Given the description of an element on the screen output the (x, y) to click on. 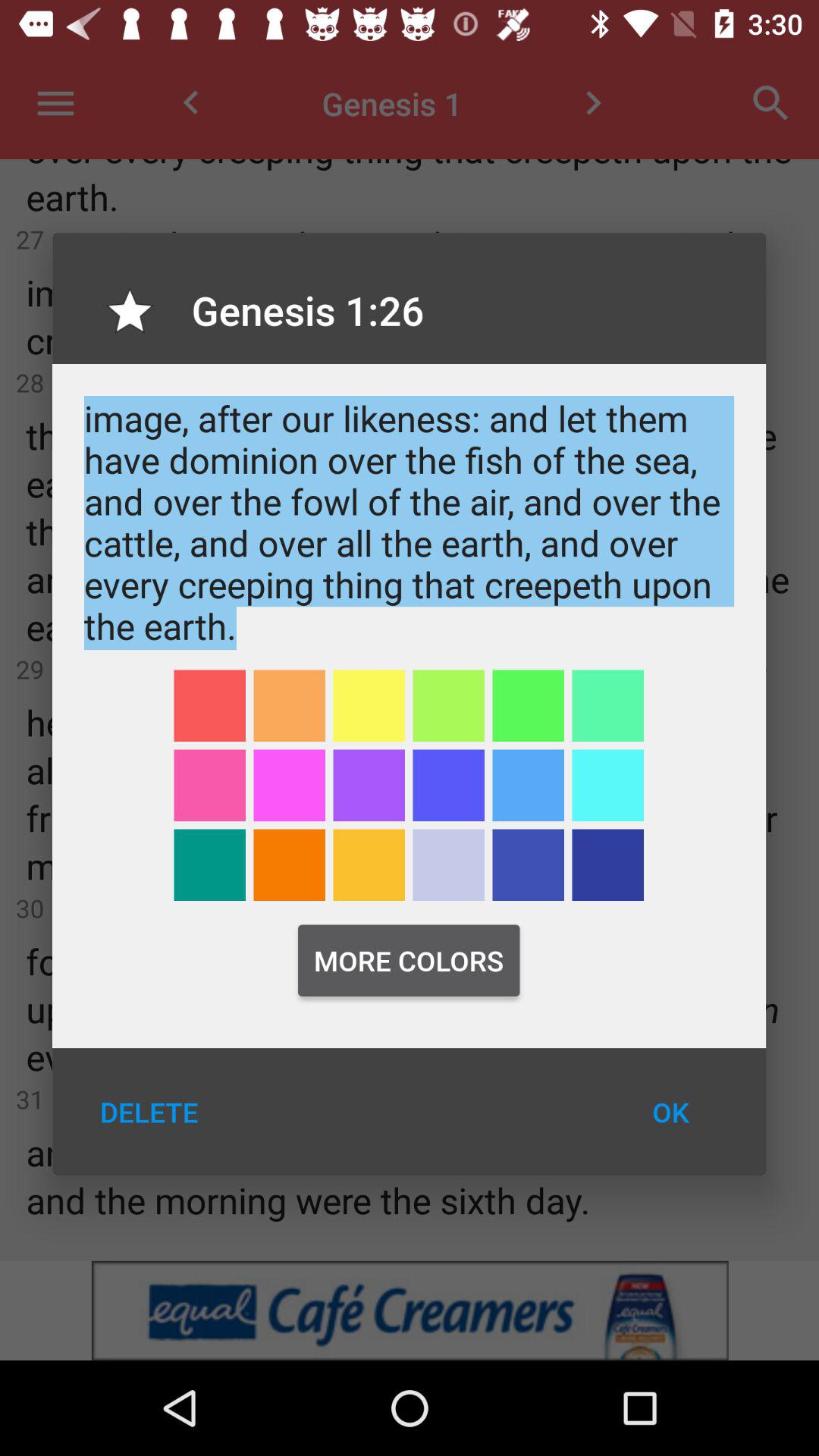
press the item above delete (209, 864)
